Given the description of an element on the screen output the (x, y) to click on. 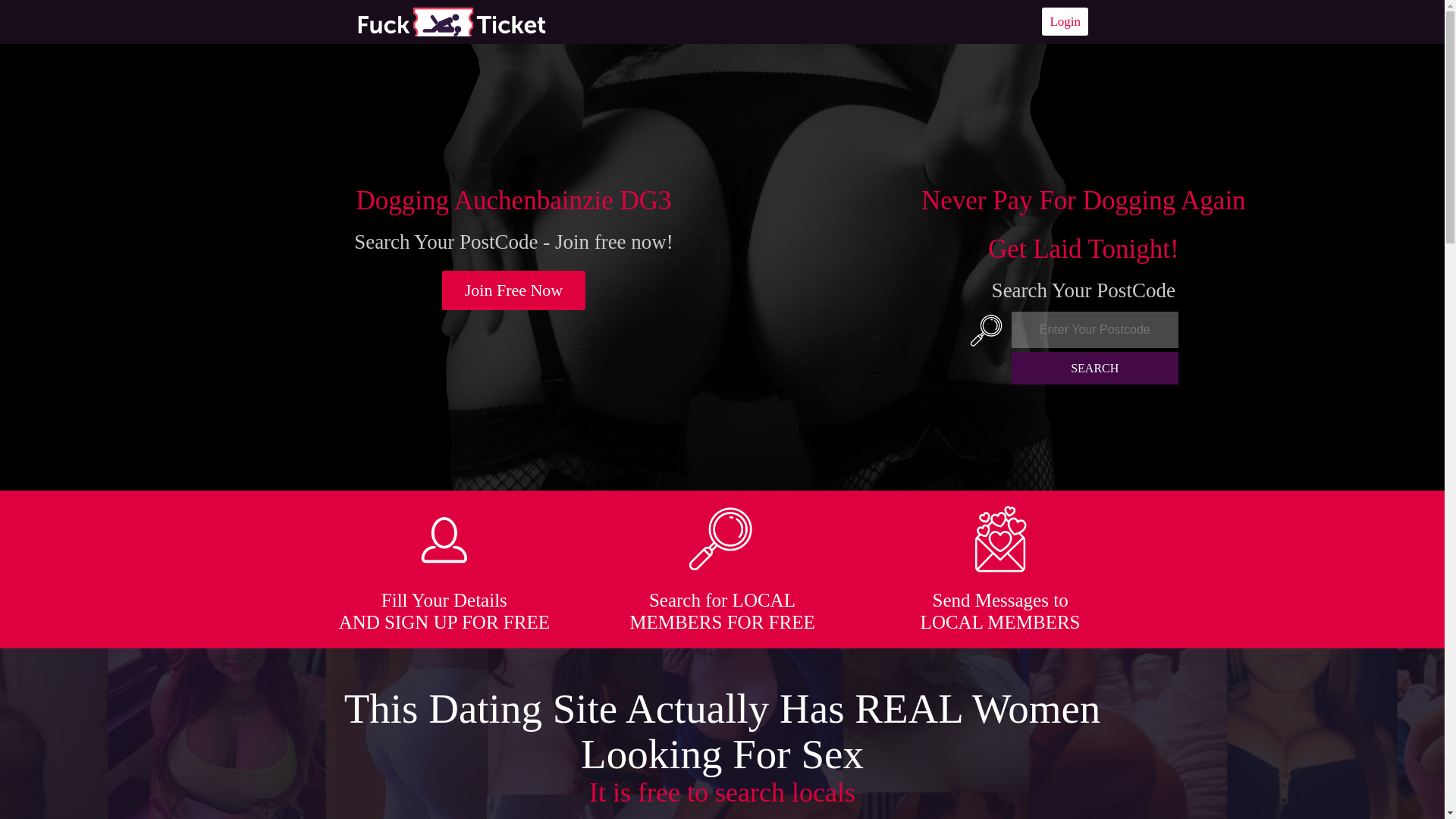
Login to doggingnearme.uk (1064, 21)
SEARCH (1094, 368)
Dogging Near Me (451, 21)
Join Free Now (514, 290)
Join (514, 290)
Login (1064, 21)
